Given the description of an element on the screen output the (x, y) to click on. 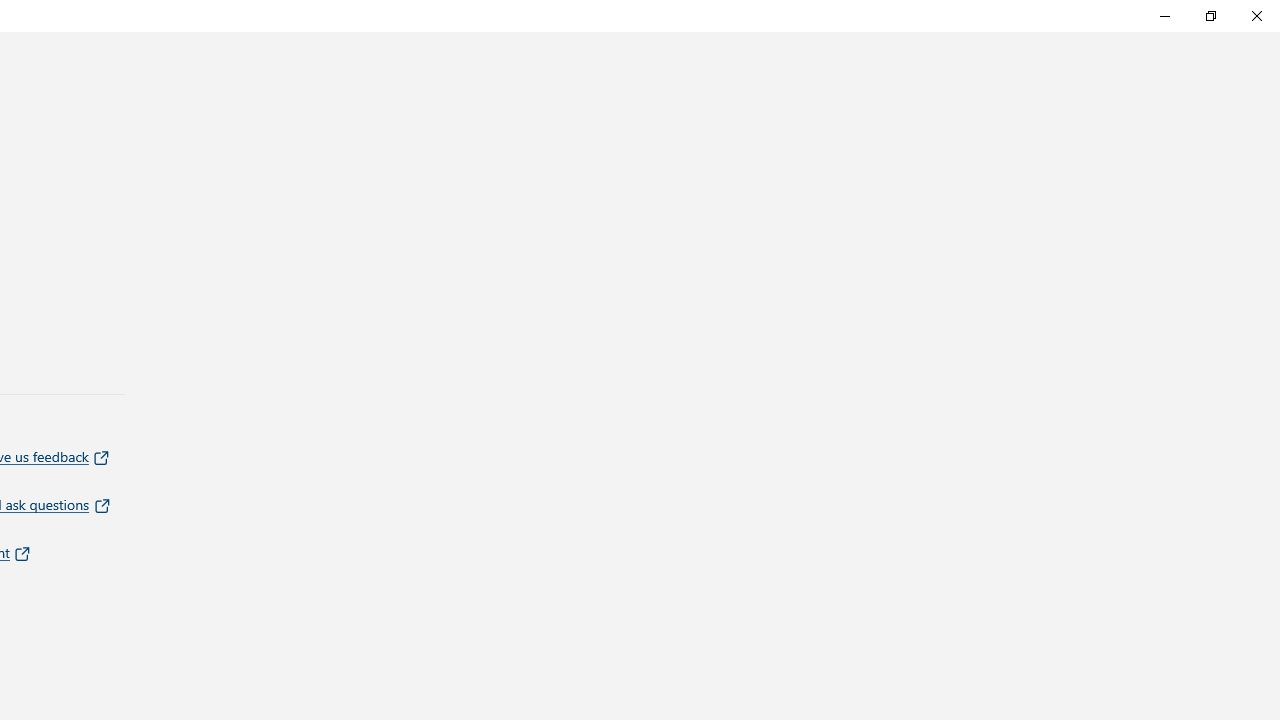
Vertical Small Decrease (1272, 38)
Minimize Feedback Hub (1164, 15)
Close Feedback Hub (1256, 15)
Restore Feedback Hub (1210, 15)
